Given the description of an element on the screen output the (x, y) to click on. 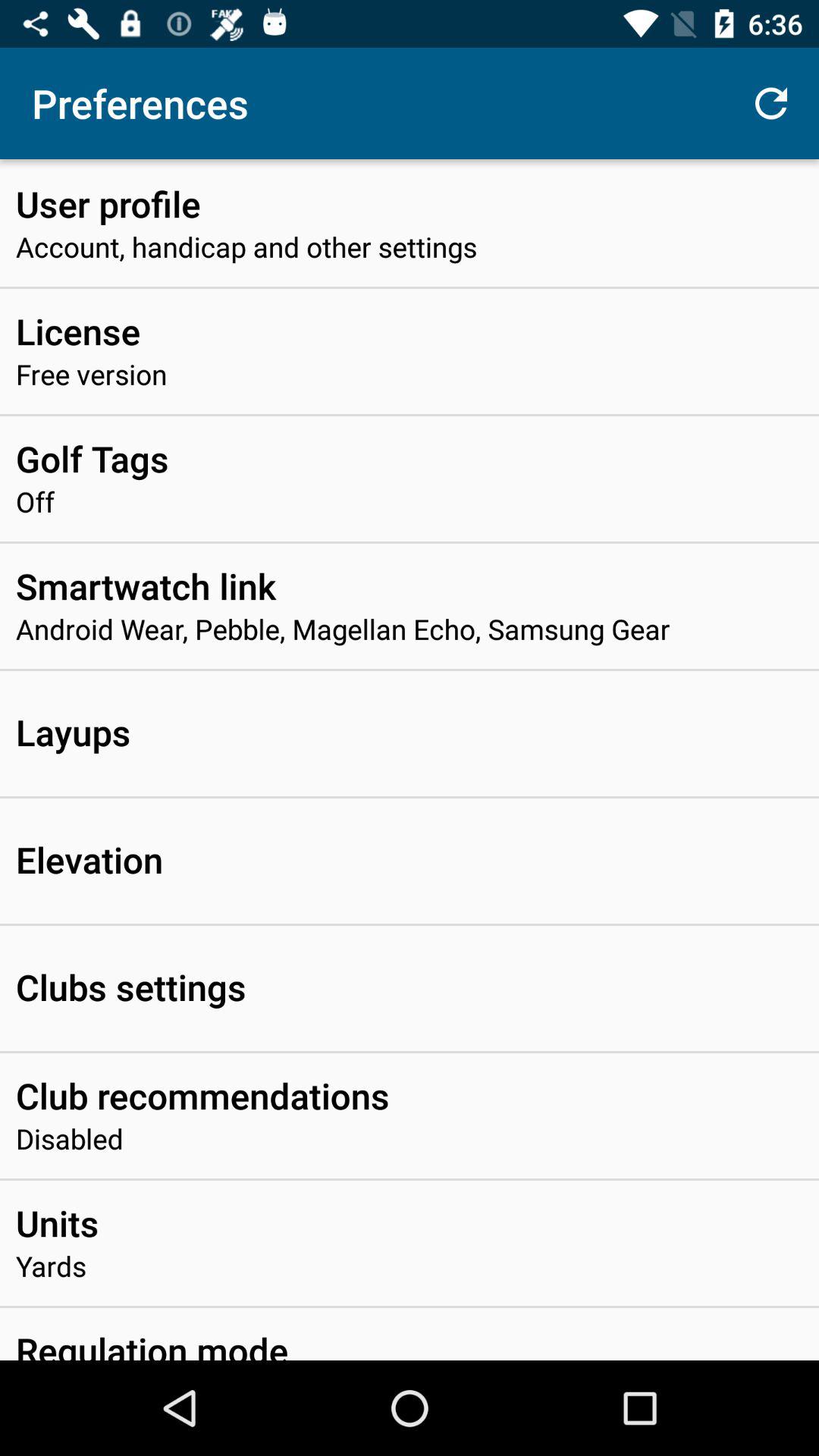
press the item at the top right corner (771, 103)
